Given the description of an element on the screen output the (x, y) to click on. 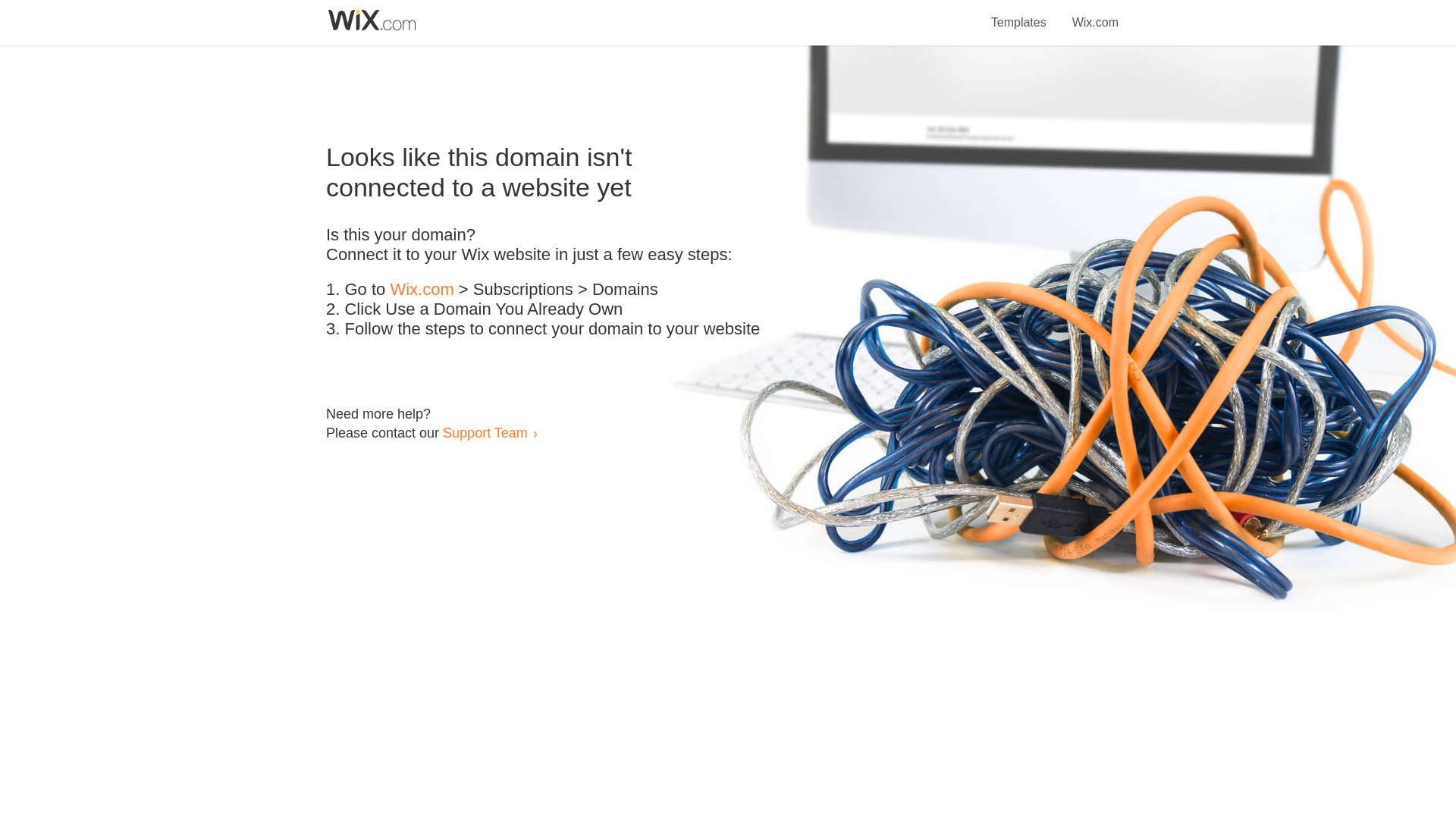
Wix.com (1095, 14)
Wix.com (421, 289)
Templates (1018, 14)
Support Team (484, 432)
